Given the description of an element on the screen output the (x, y) to click on. 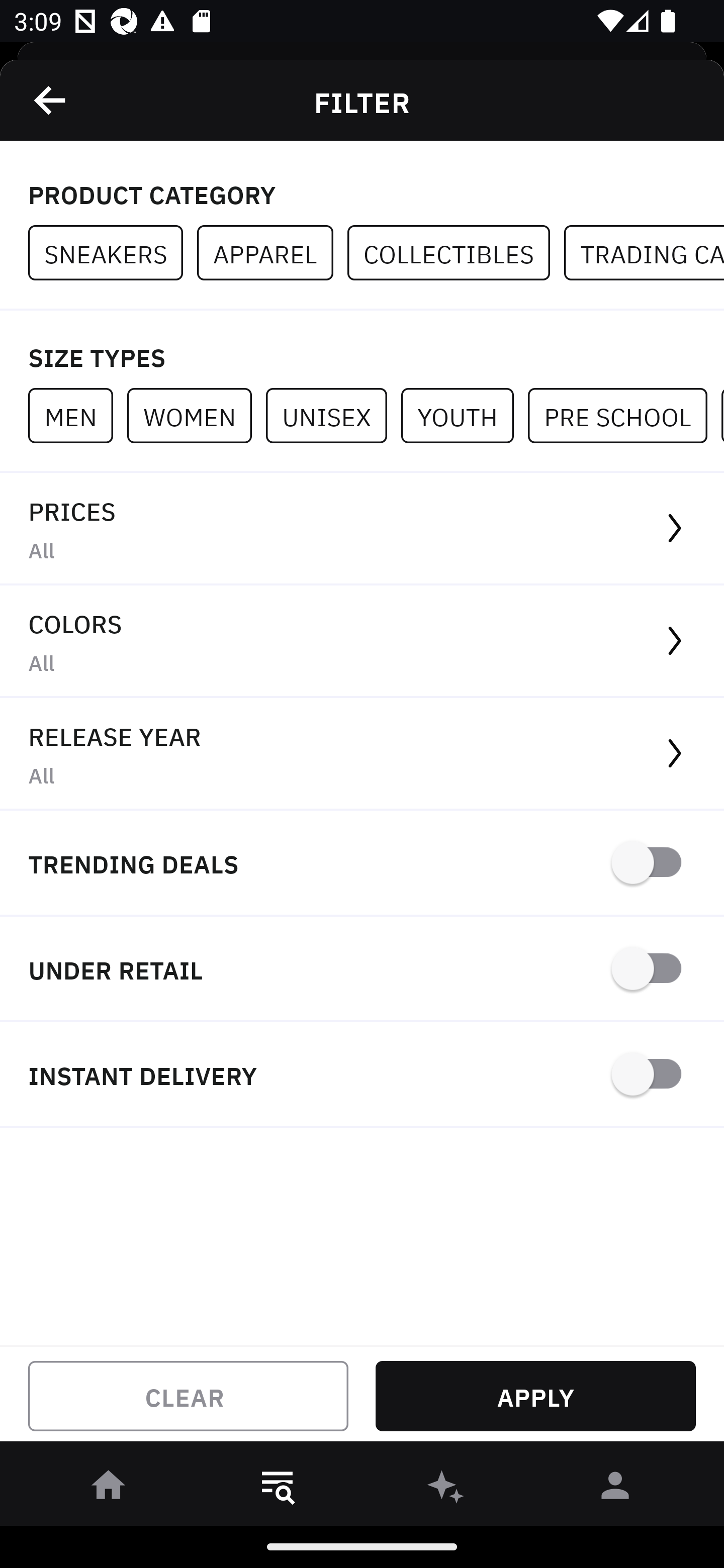
 (50, 100)
SNEAKERS (112, 252)
APPAREL (271, 252)
COLLECTIBLES (455, 252)
TRADING CARDS (643, 252)
MEN (77, 415)
WOMEN (196, 415)
UNISEX (333, 415)
YOUTH (464, 415)
PRE SCHOOL (624, 415)
PRICES All (362, 528)
COLORS All (362, 640)
RELEASE YEAR All (362, 753)
TRENDING DEALS (362, 863)
UNDER RETAIL (362, 969)
INSTANT DELIVERY (362, 1075)
CLEAR  (188, 1396)
APPLY (535, 1396)
󰋜 (108, 1488)
󱎸 (277, 1488)
󰫢 (446, 1488)
󰀄 (615, 1488)
